Given the description of an element on the screen output the (x, y) to click on. 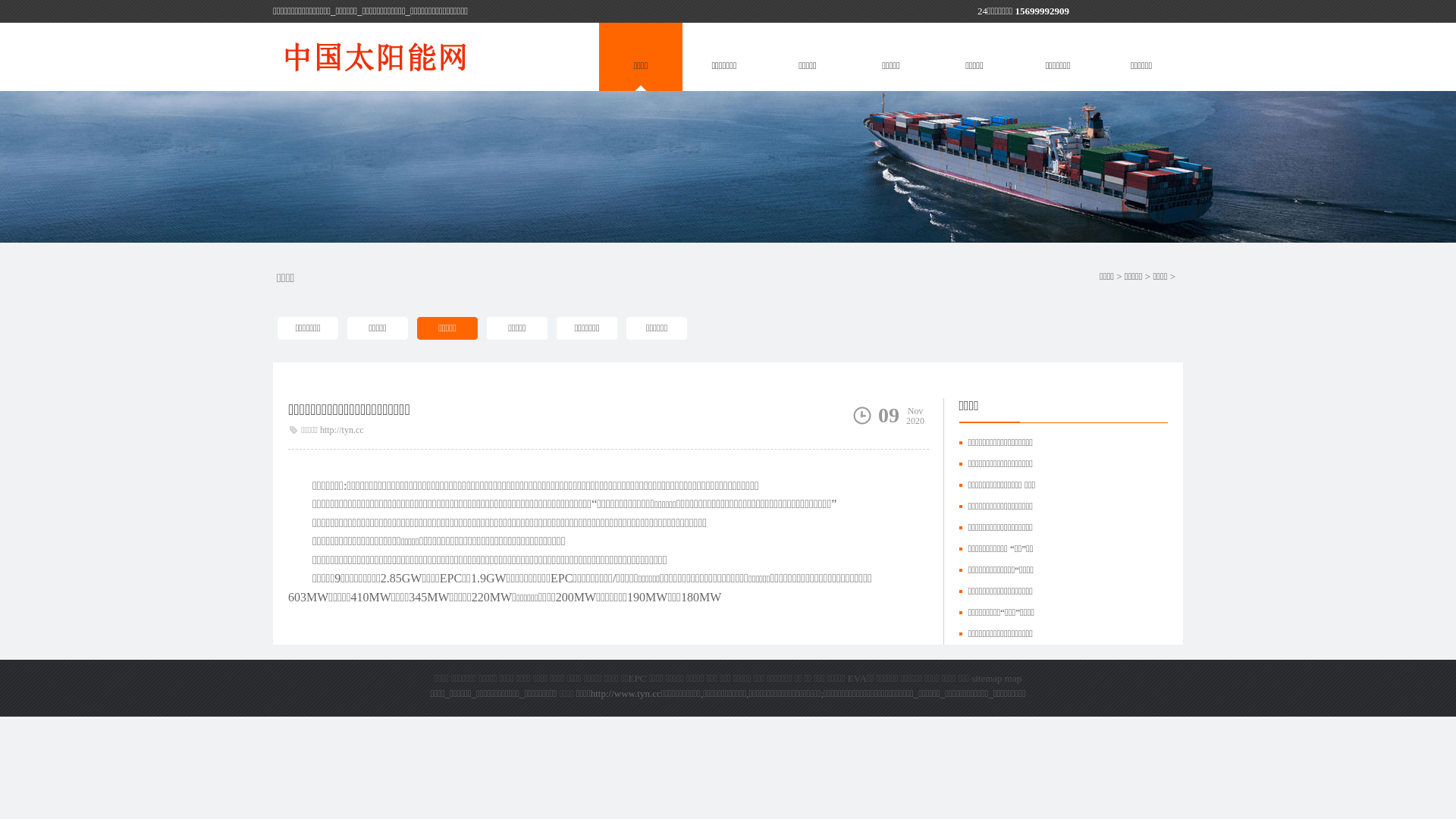
map Element type: text (1012, 678)
sitemap Element type: text (986, 678)
